Given the description of an element on the screen output the (x, y) to click on. 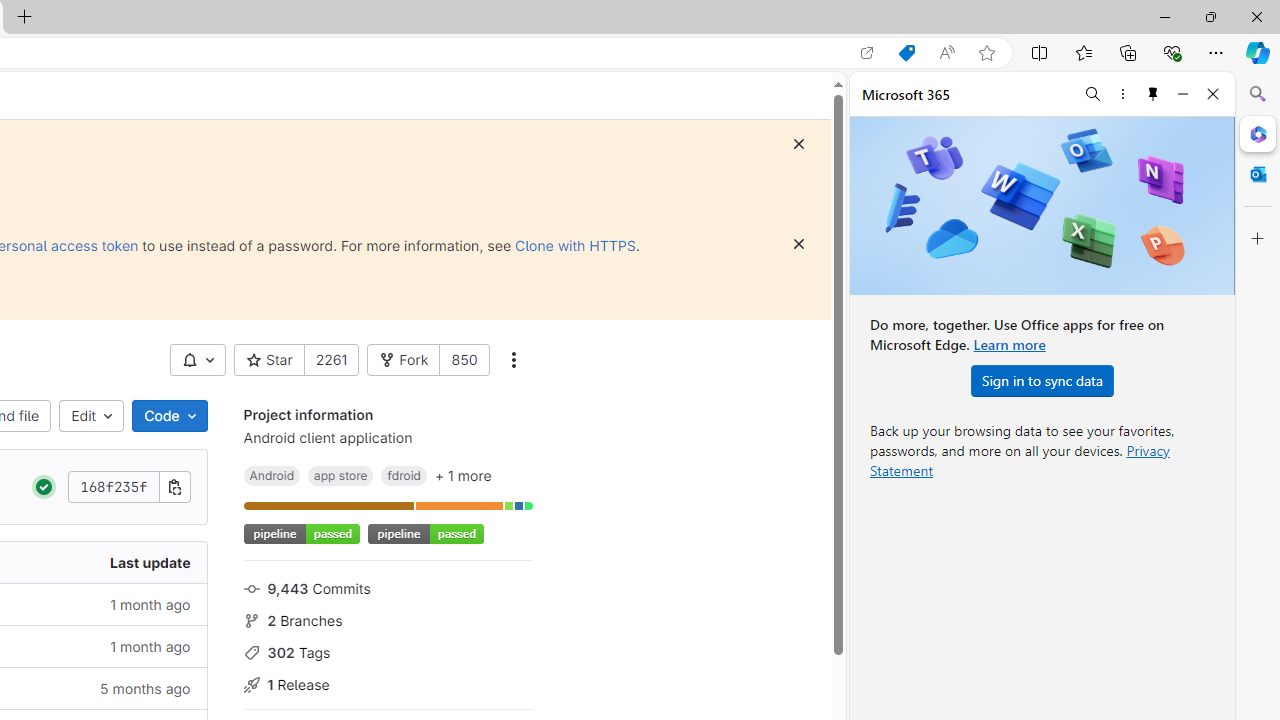
app store (340, 475)
1 Release (387, 682)
 Star (269, 359)
Class: s16 gl-icon gl-button-icon  (798, 243)
Pipeline: Passed (44, 487)
Code (169, 416)
fdroid (404, 475)
+ 1 more (463, 475)
Privacy Statement (1019, 460)
9,443 Commits (387, 587)
Clone with HTTPS (575, 245)
